Given the description of an element on the screen output the (x, y) to click on. 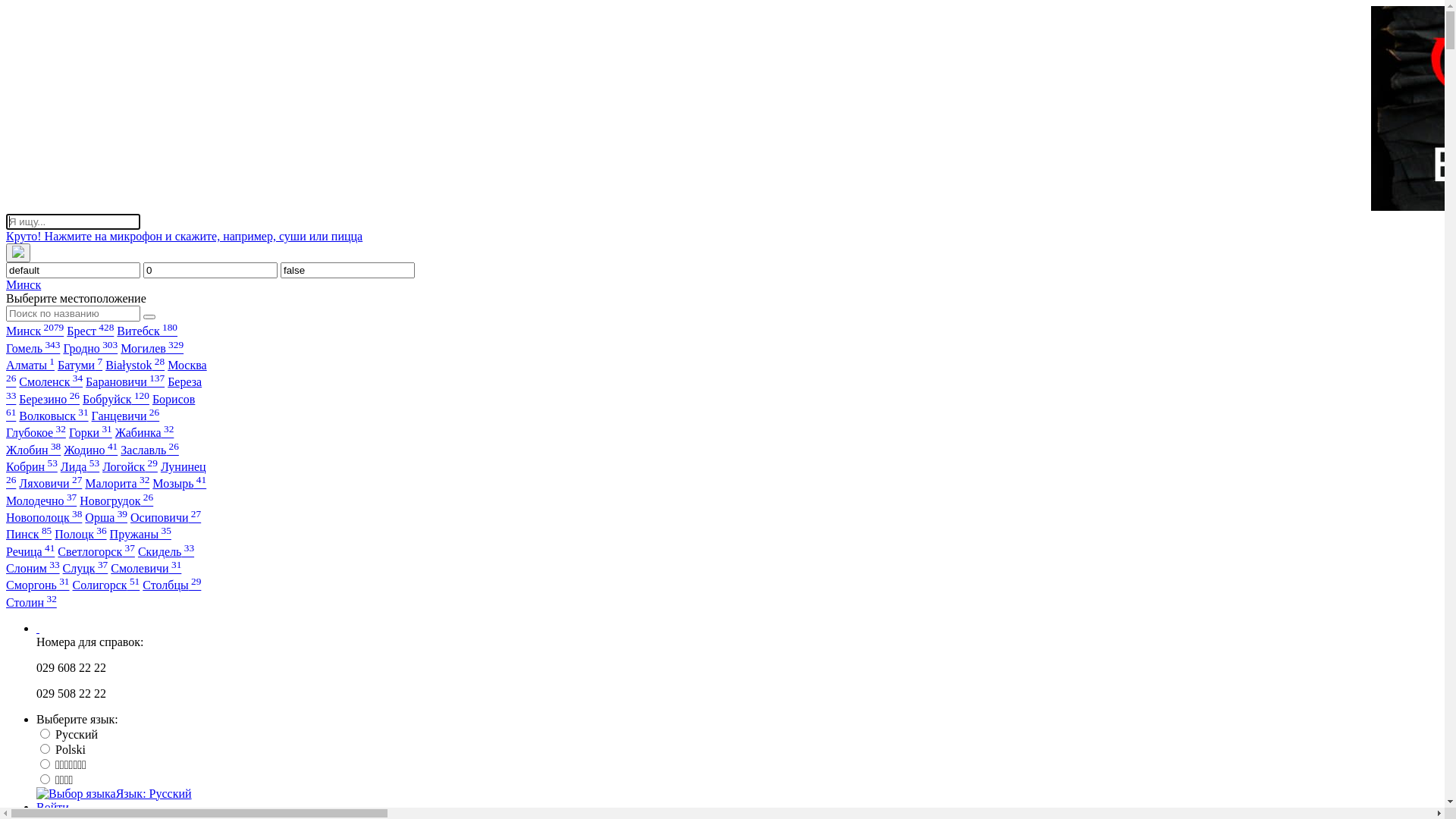
  Element type: text (37, 627)
